Given the description of an element on the screen output the (x, y) to click on. 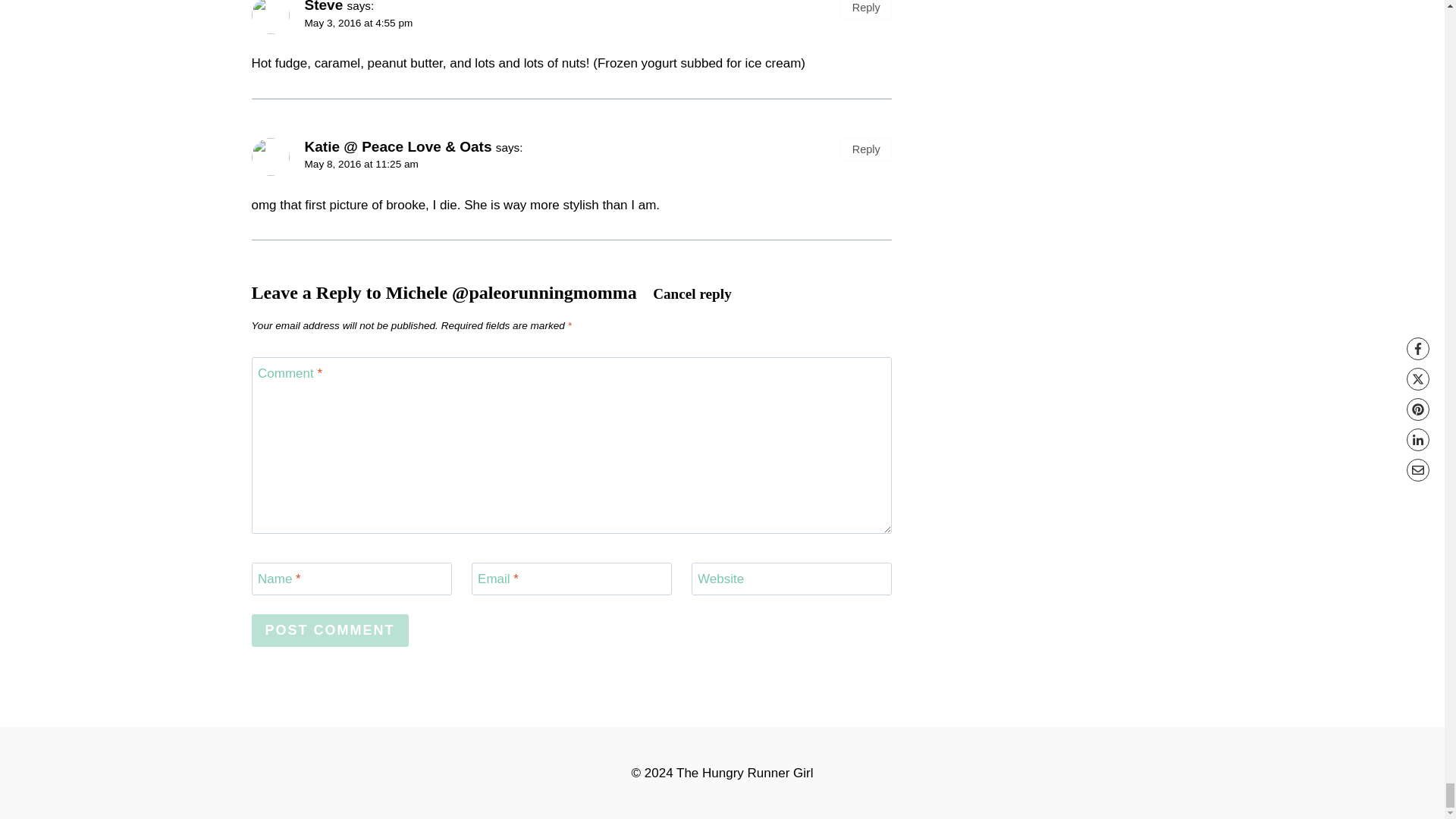
Post Comment (330, 630)
